Given the description of an element on the screen output the (x, y) to click on. 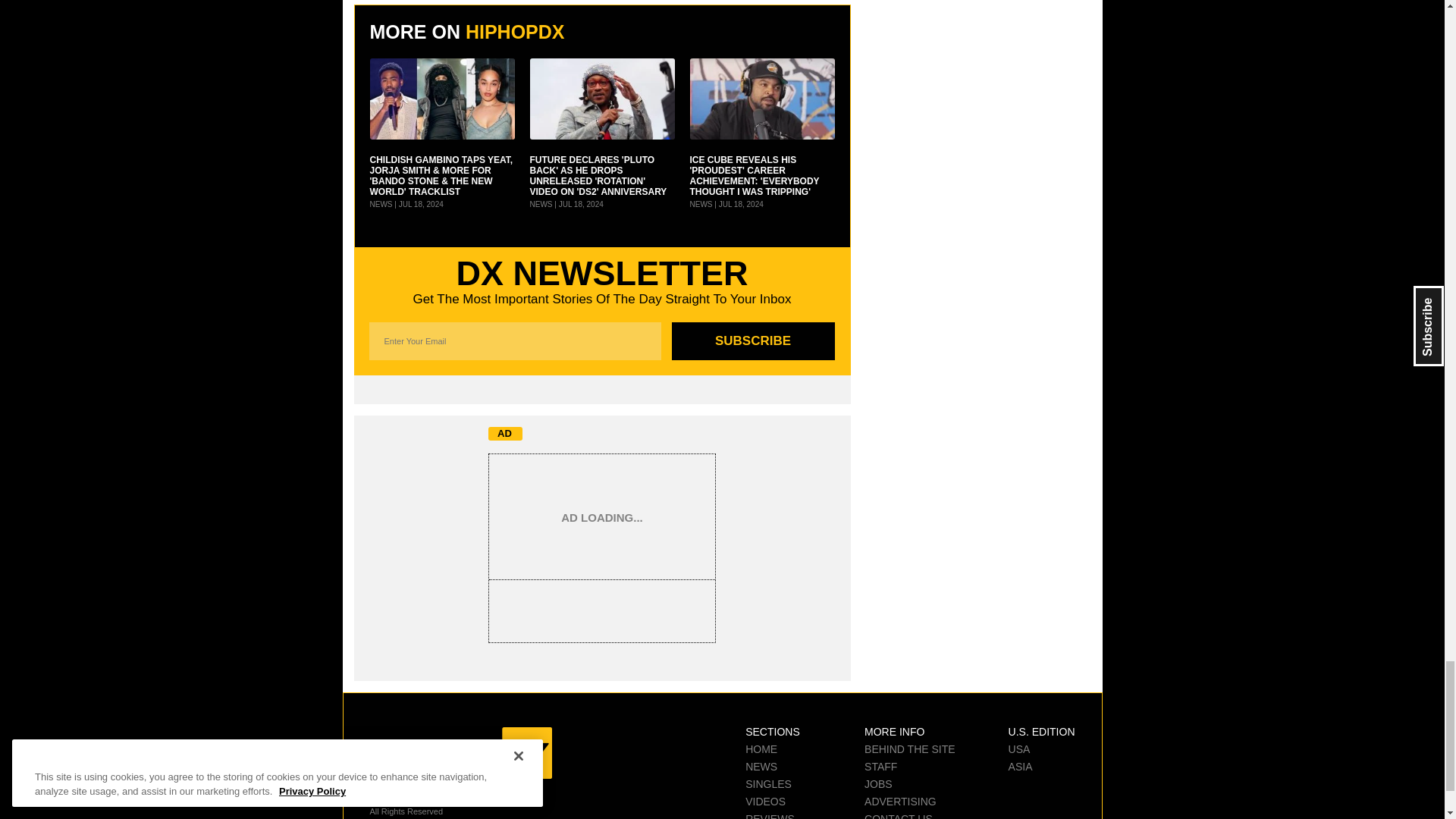
HipHopDX (460, 752)
